Given the description of an element on the screen output the (x, y) to click on. 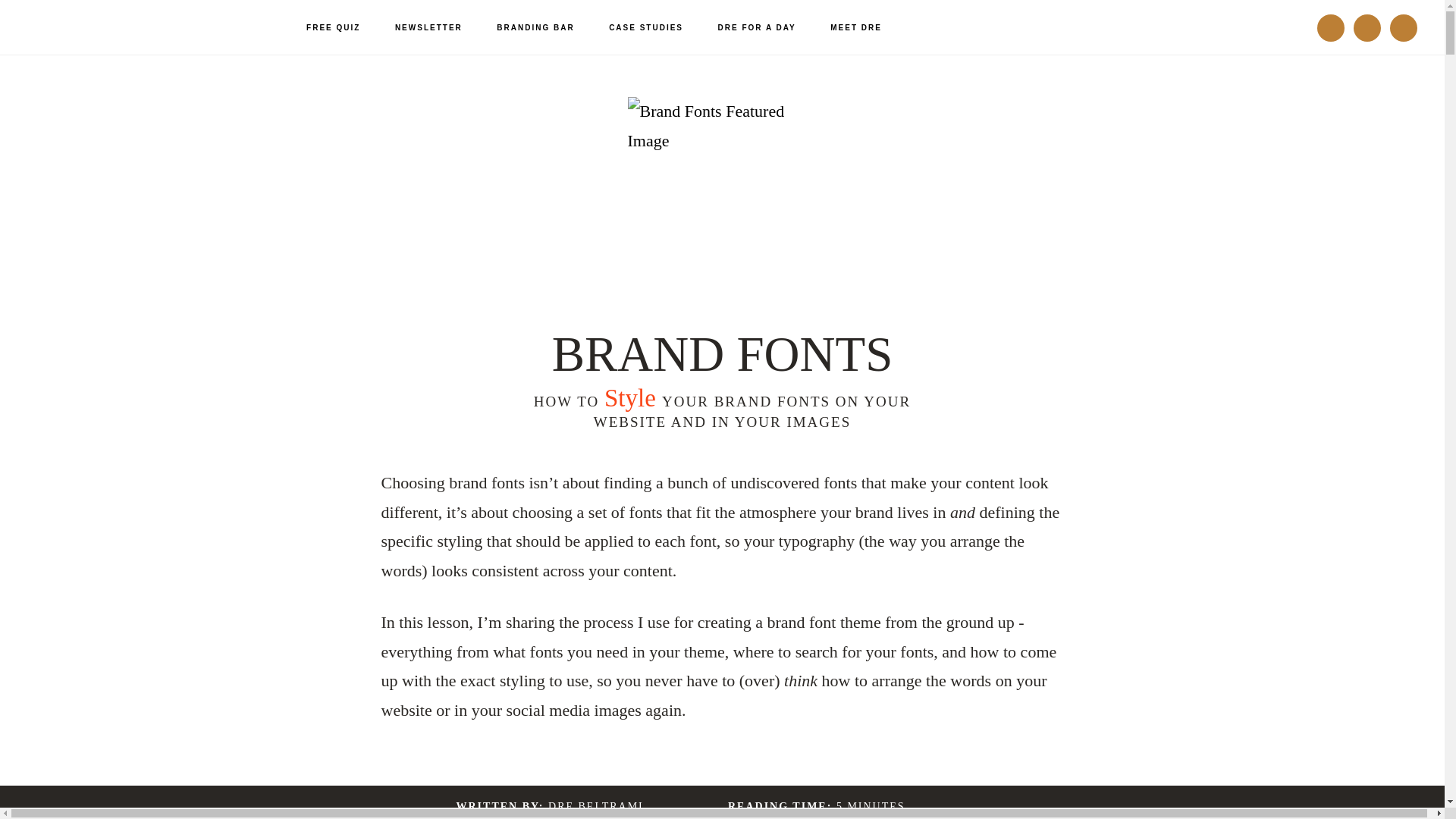
DRE FOR A DAY (756, 27)
Brand Fonts Featured Image (721, 191)
CASE STUDIES (646, 27)
FREE QUIZ (333, 27)
MEET DRE (855, 27)
BRANDING BAR (535, 27)
NEWSLETTER (428, 27)
